Given the description of an element on the screen output the (x, y) to click on. 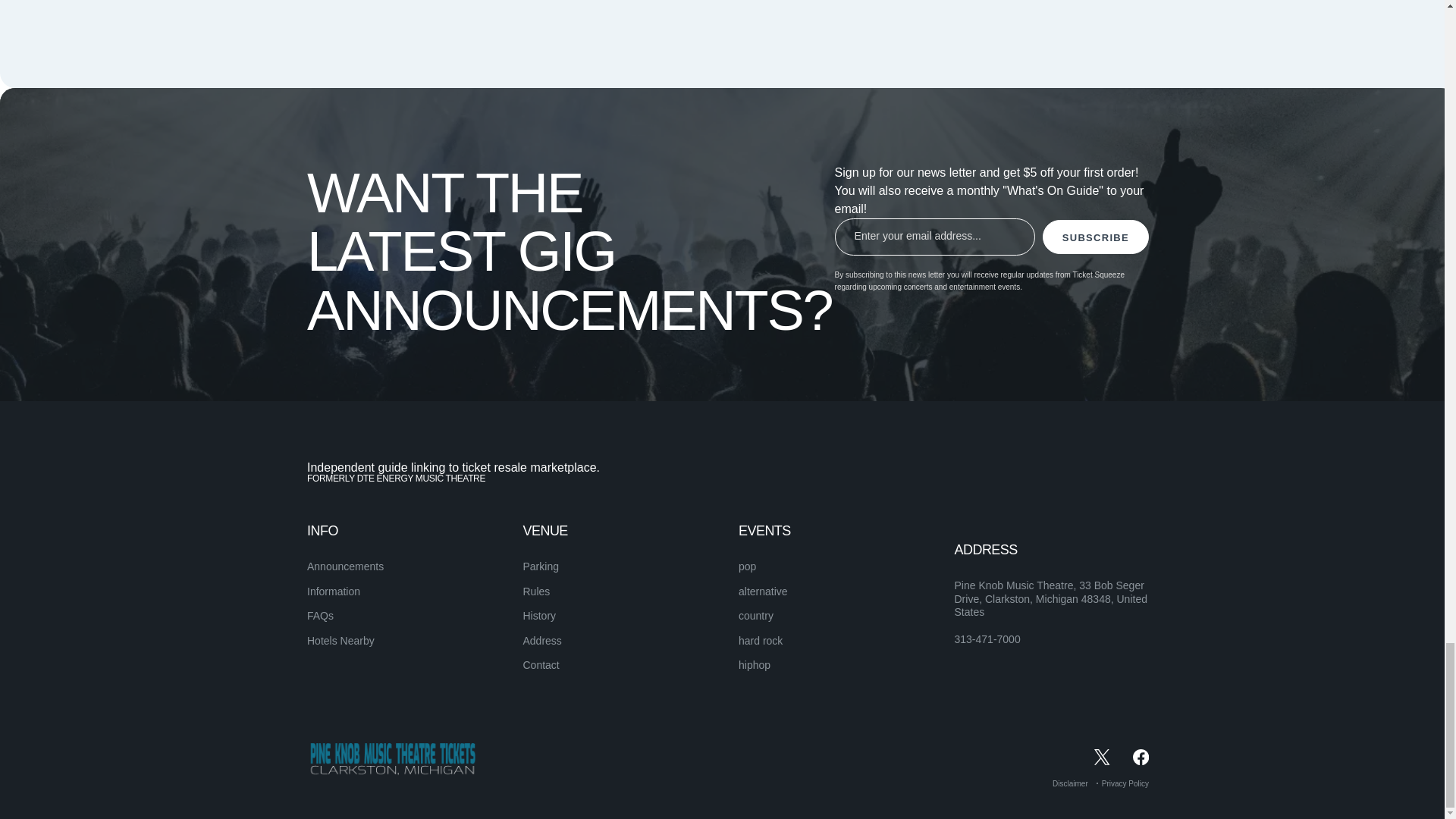
hard rock (760, 640)
pop (746, 566)
country (755, 615)
Address (542, 640)
Information (333, 591)
Hotels Nearby (340, 640)
hiphop (754, 664)
Rules (536, 591)
FAQs (320, 615)
Contact (540, 664)
